Given the description of an element on the screen output the (x, y) to click on. 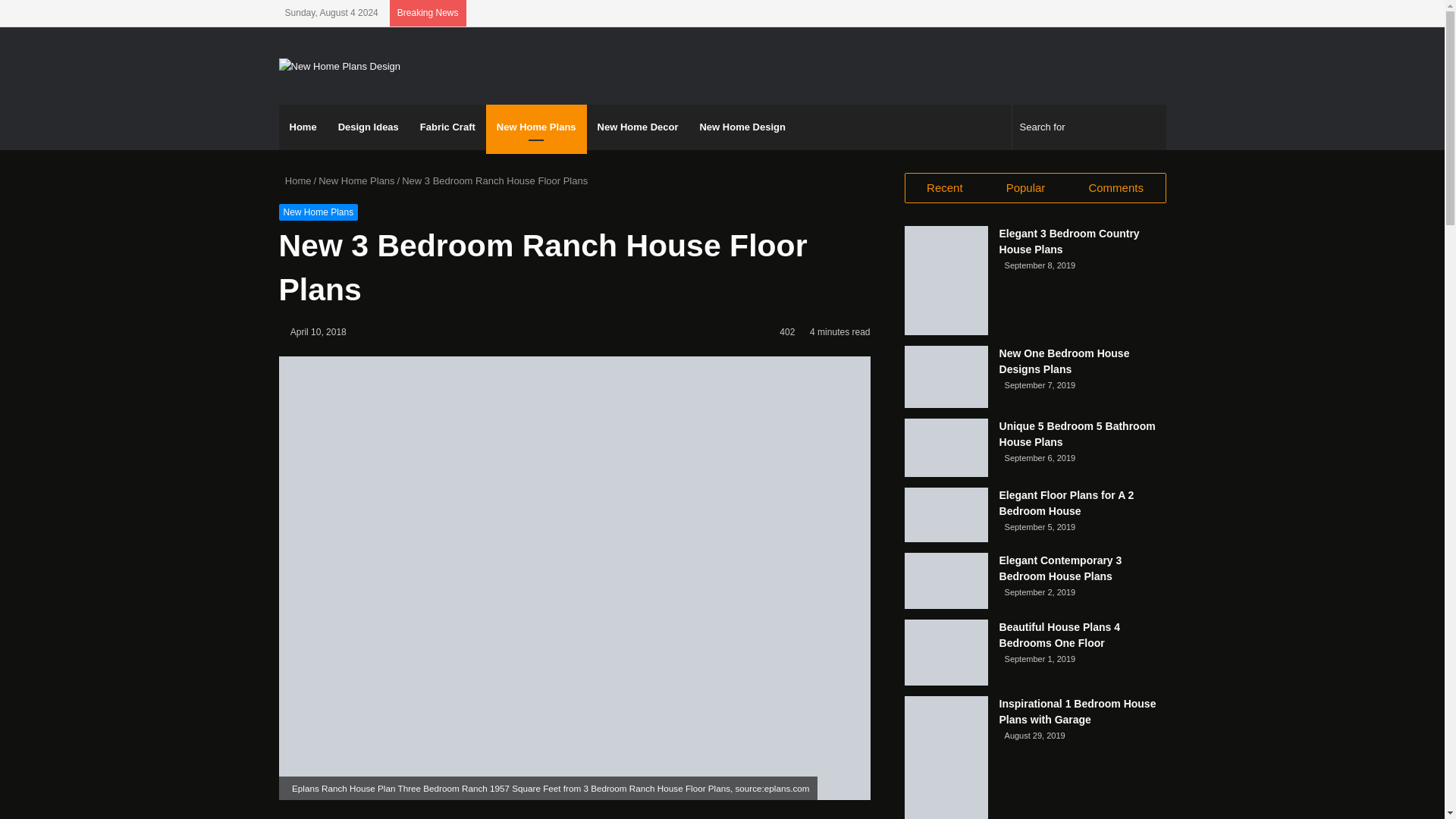
Random Article (1131, 13)
New Home Decor (637, 126)
Home (295, 180)
Home (303, 126)
New Home Plans Design (340, 65)
Sidebar (1154, 13)
New Home Plans (536, 126)
Fabric Craft (447, 126)
Search for (1150, 126)
New Home Design (741, 126)
New Home Plans (356, 180)
Design Ideas (368, 126)
Log In (1109, 13)
Search for (1088, 126)
Random Article (1131, 13)
